Given the description of an element on the screen output the (x, y) to click on. 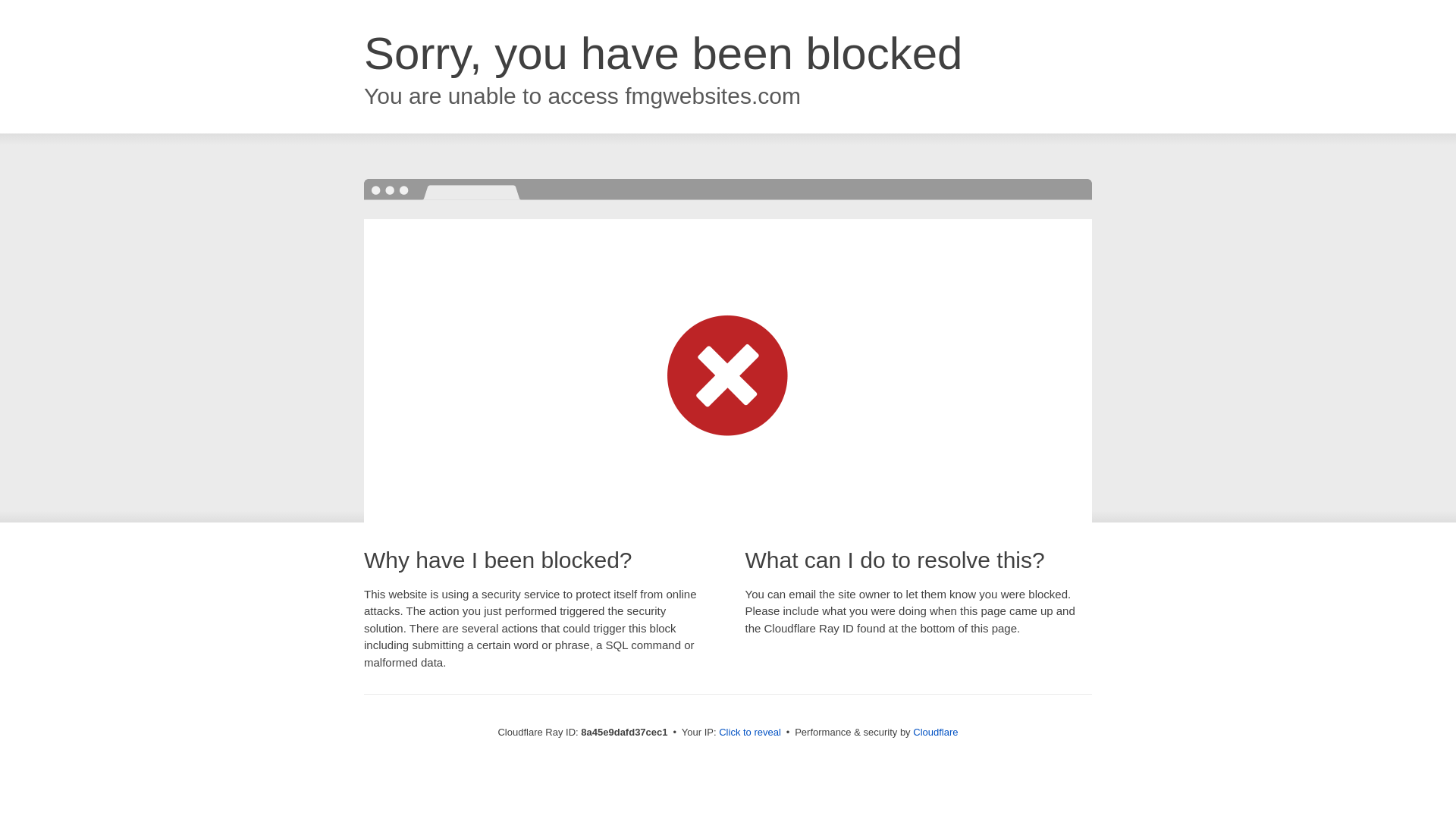
Click to reveal (749, 732)
Cloudflare (935, 731)
